Given the description of an element on the screen output the (x, y) to click on. 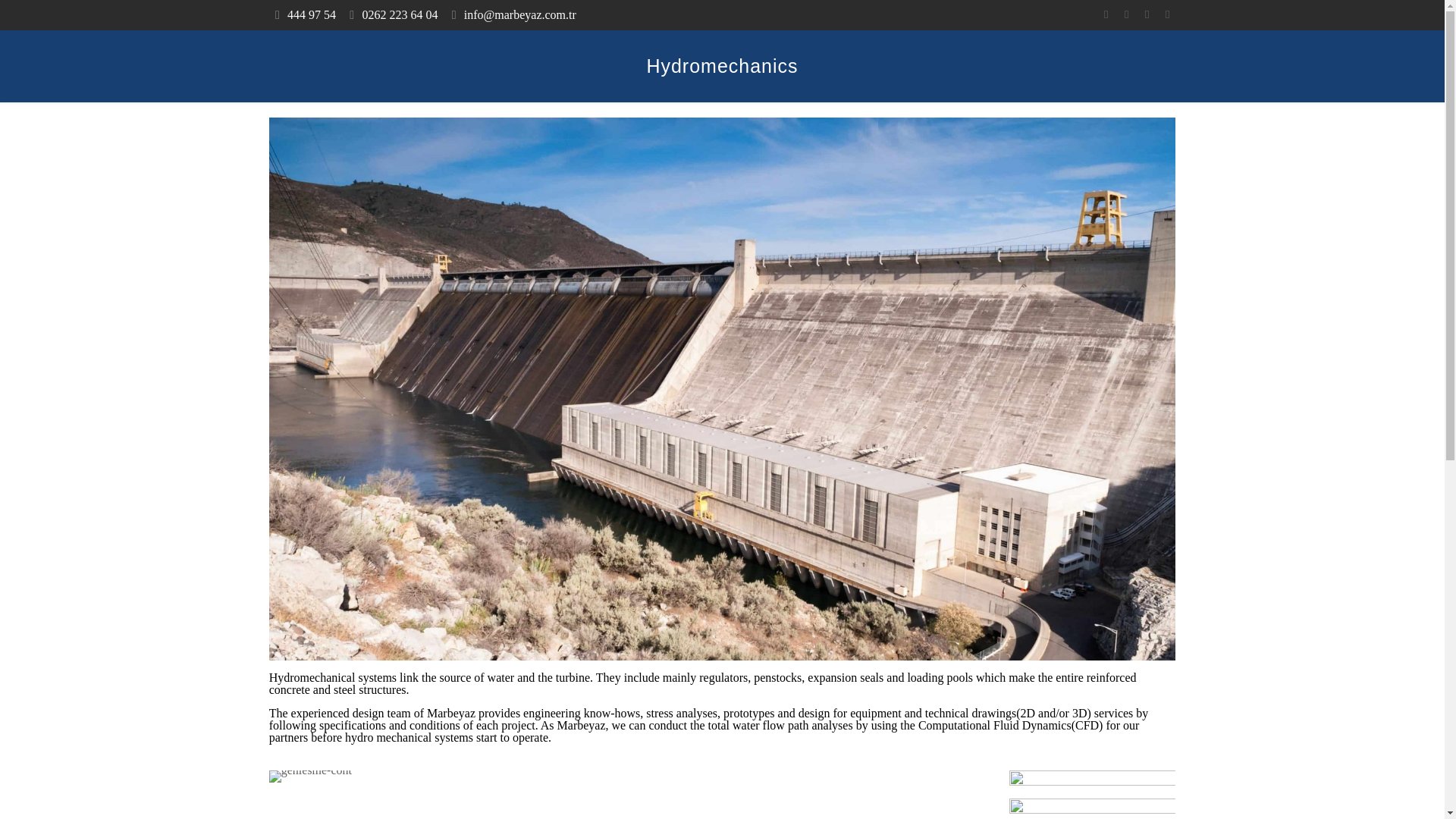
genlesme-cont (310, 776)
444 97 54 (311, 14)
Facebook (1105, 14)
Twitter (1126, 14)
LinkedIn (1146, 14)
Instagram (1166, 14)
0262 223 64 04 (399, 14)
